Given the description of an element on the screen output the (x, y) to click on. 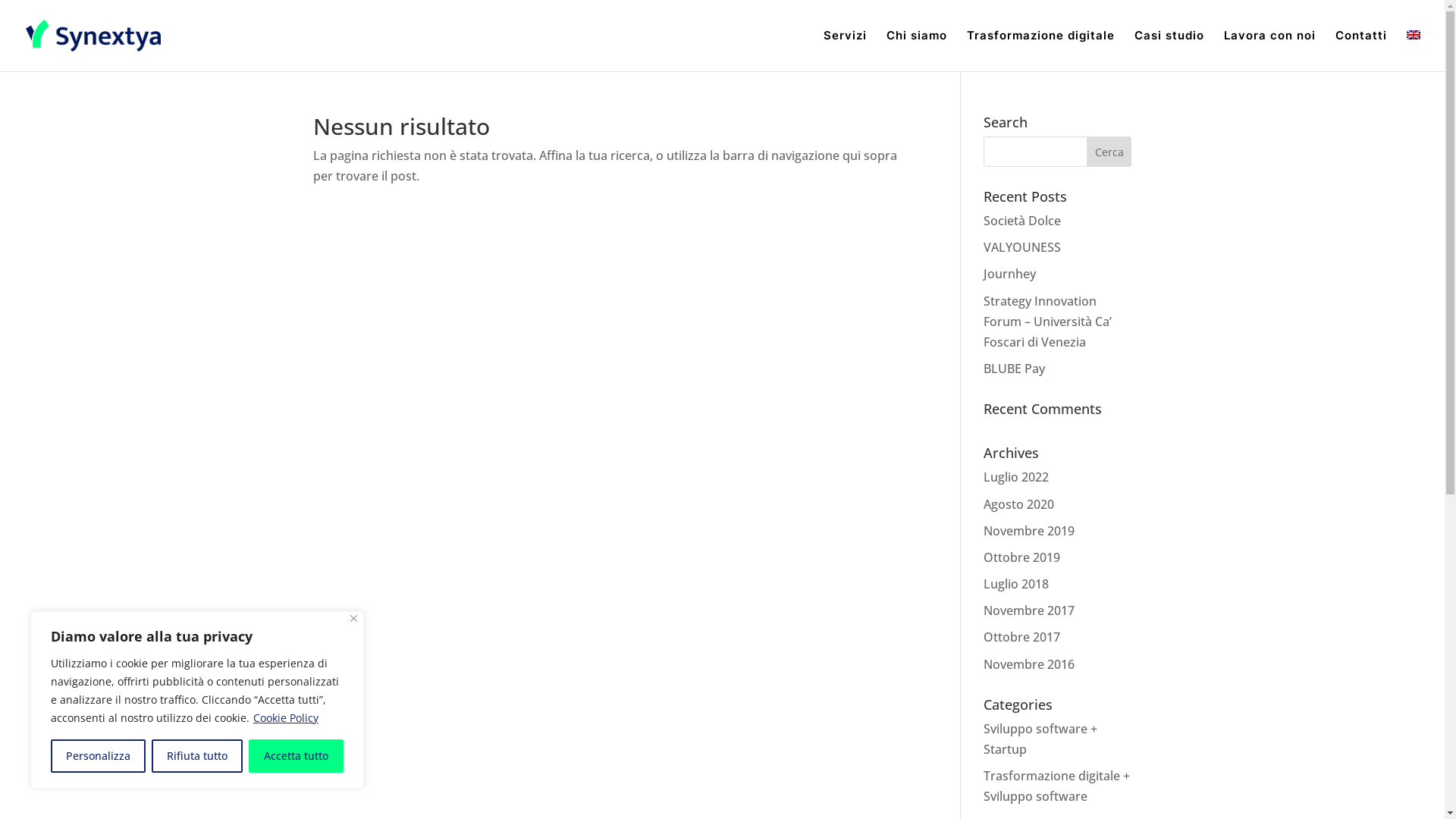
Rifiuta tutto Element type: text (196, 755)
Journhey Element type: text (1009, 273)
Casi studio Element type: text (1169, 50)
Luglio 2018 Element type: text (1015, 583)
Novembre 2017 Element type: text (1028, 610)
BLUBE Pay Element type: text (1013, 368)
VALYOUNESS Element type: text (1021, 246)
Luglio 2022 Element type: text (1015, 476)
Novembre 2016 Element type: text (1028, 663)
Personalizza Element type: text (97, 755)
Agosto 2020 Element type: text (1018, 503)
Sviluppo software + Startup Element type: text (1040, 738)
Trasformazione digitale + Sviluppo software Element type: text (1056, 785)
Ottobre 2019 Element type: text (1021, 557)
Cookie Policy Element type: text (285, 717)
Servizi Element type: text (844, 50)
Chi siamo Element type: text (916, 50)
Trasformazione digitale Element type: text (1040, 50)
Cerca Element type: text (1109, 151)
Contatti Element type: text (1360, 50)
Lavora con noi Element type: text (1269, 50)
Novembre 2019 Element type: text (1028, 530)
Ottobre 2017 Element type: text (1021, 636)
Accetta tutto Element type: text (295, 755)
